Given the description of an element on the screen output the (x, y) to click on. 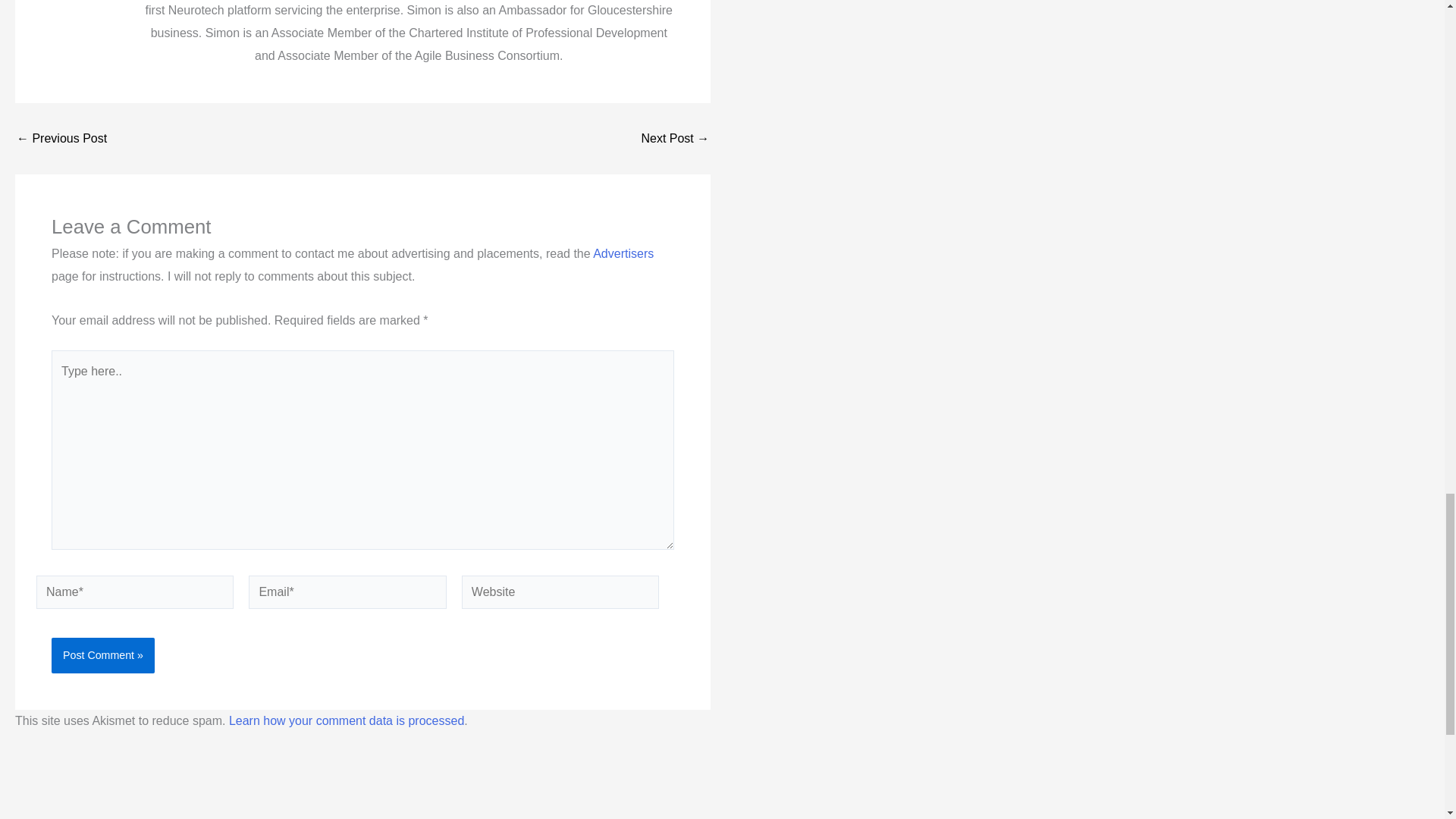
Have You Become Underemployed? (674, 138)
Learn how your comment data is processed (346, 720)
Advertisers (622, 253)
Benchmark Your Salary, Post-Recession (61, 138)
